Given the description of an element on the screen output the (x, y) to click on. 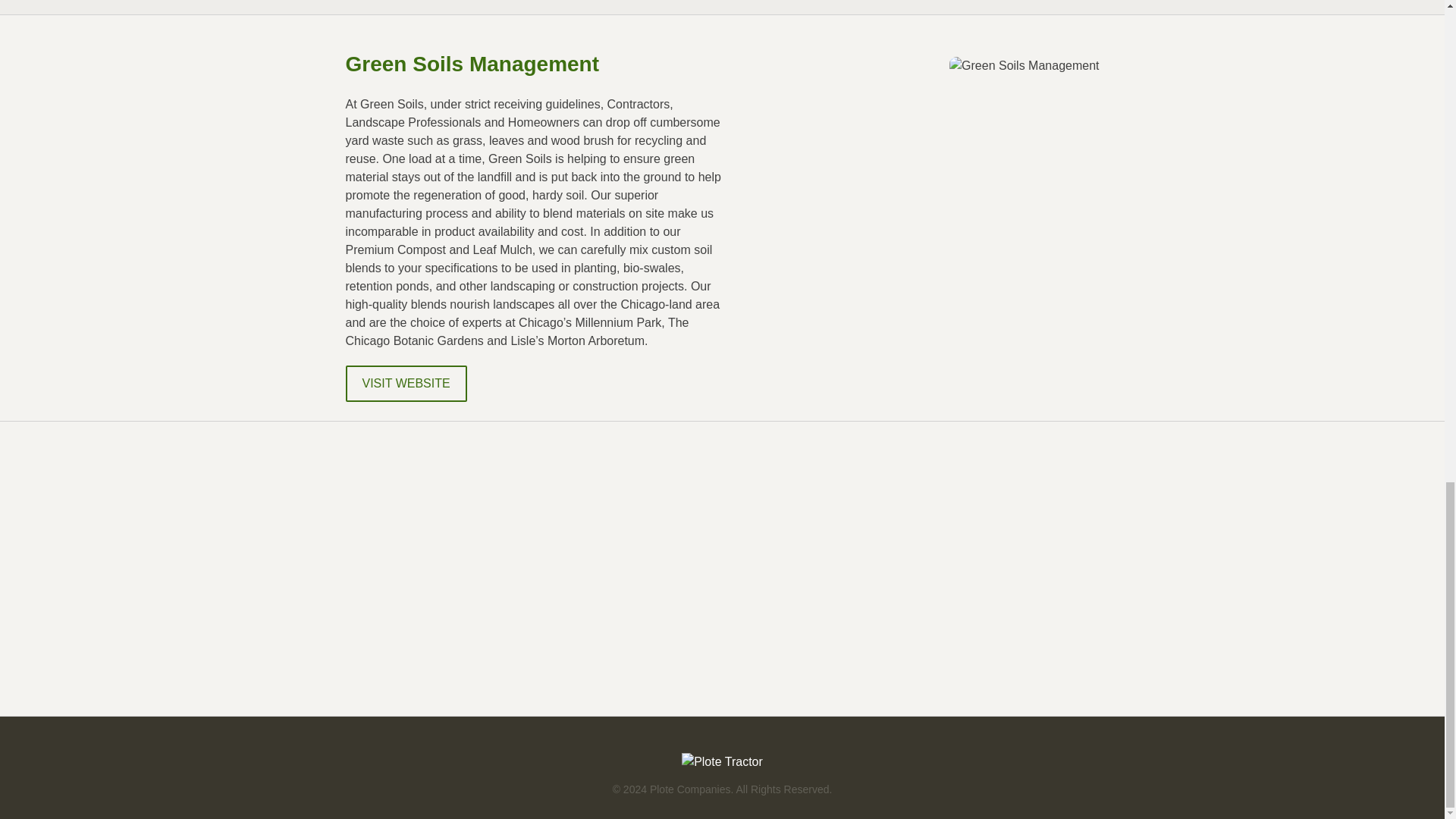
VISIT WEBSITE (406, 383)
